Given the description of an element on the screen output the (x, y) to click on. 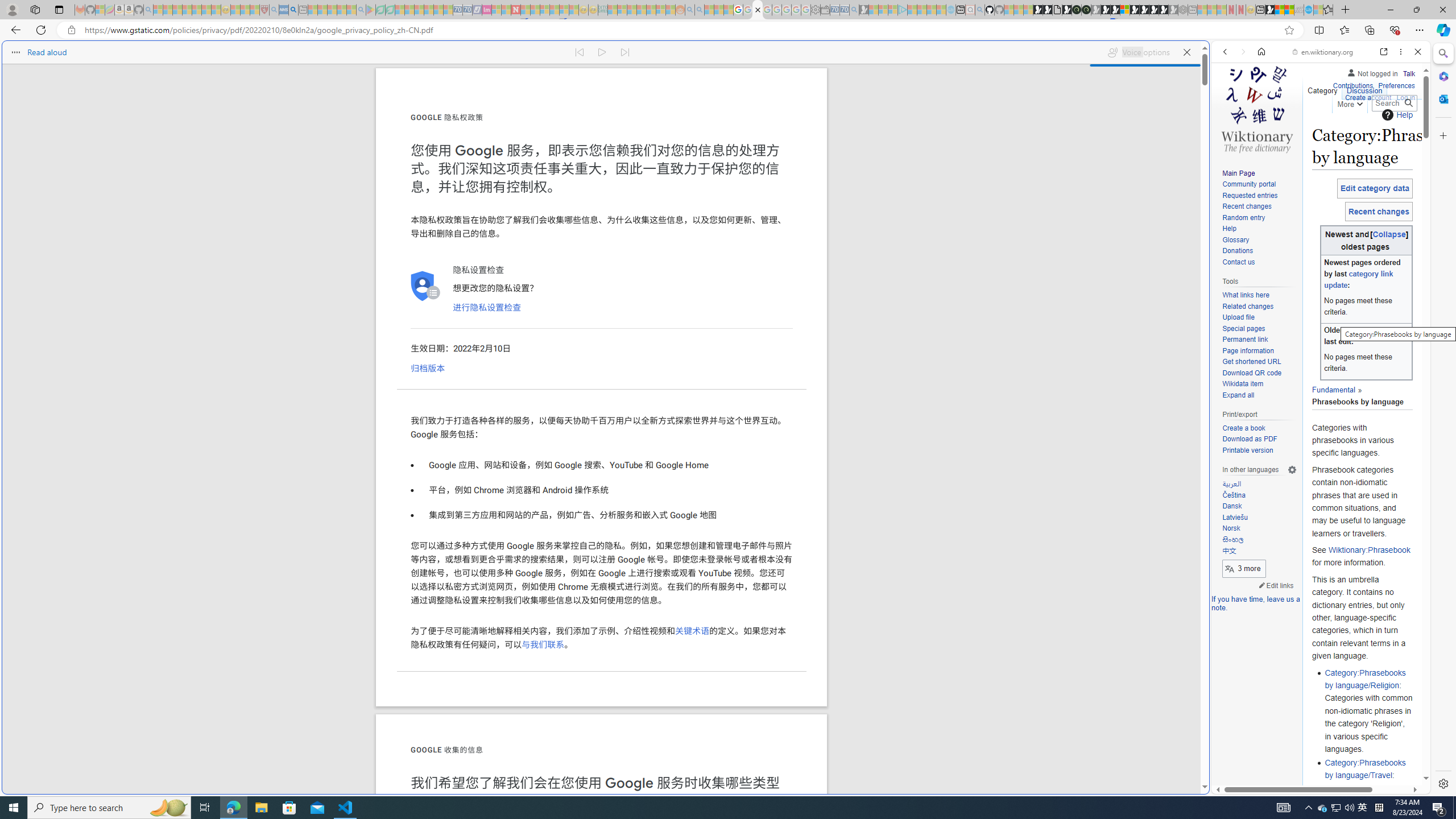
Main Page (1238, 172)
Category (1322, 87)
